Given the description of an element on the screen output the (x, y) to click on. 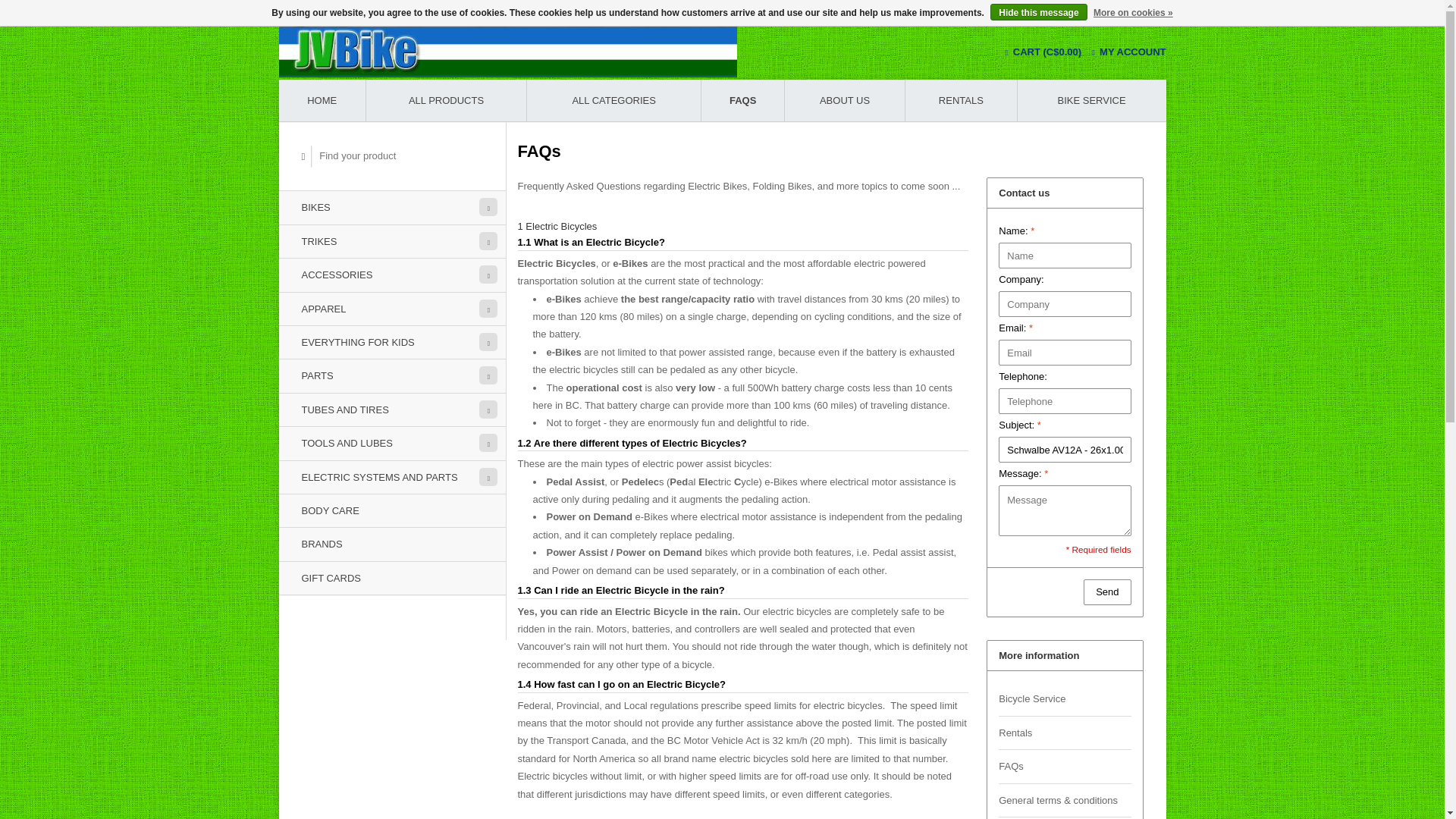
RENTALS (960, 100)
RENTALS (960, 100)
Schwalbe AV12A - 26x1.00-1.50" - Schrader (1063, 449)
BIKE SERVICE (1091, 100)
APPAREL (392, 308)
BIKE SERVICE (1091, 100)
Accessories (392, 274)
About us (844, 100)
MY ACCOUNT (1129, 51)
ALL CATEGORIES (613, 100)
Bikes (392, 207)
FAQS (742, 100)
ABOUT US (844, 100)
ALL PRODUCTS (445, 100)
